Given the description of an element on the screen output the (x, y) to click on. 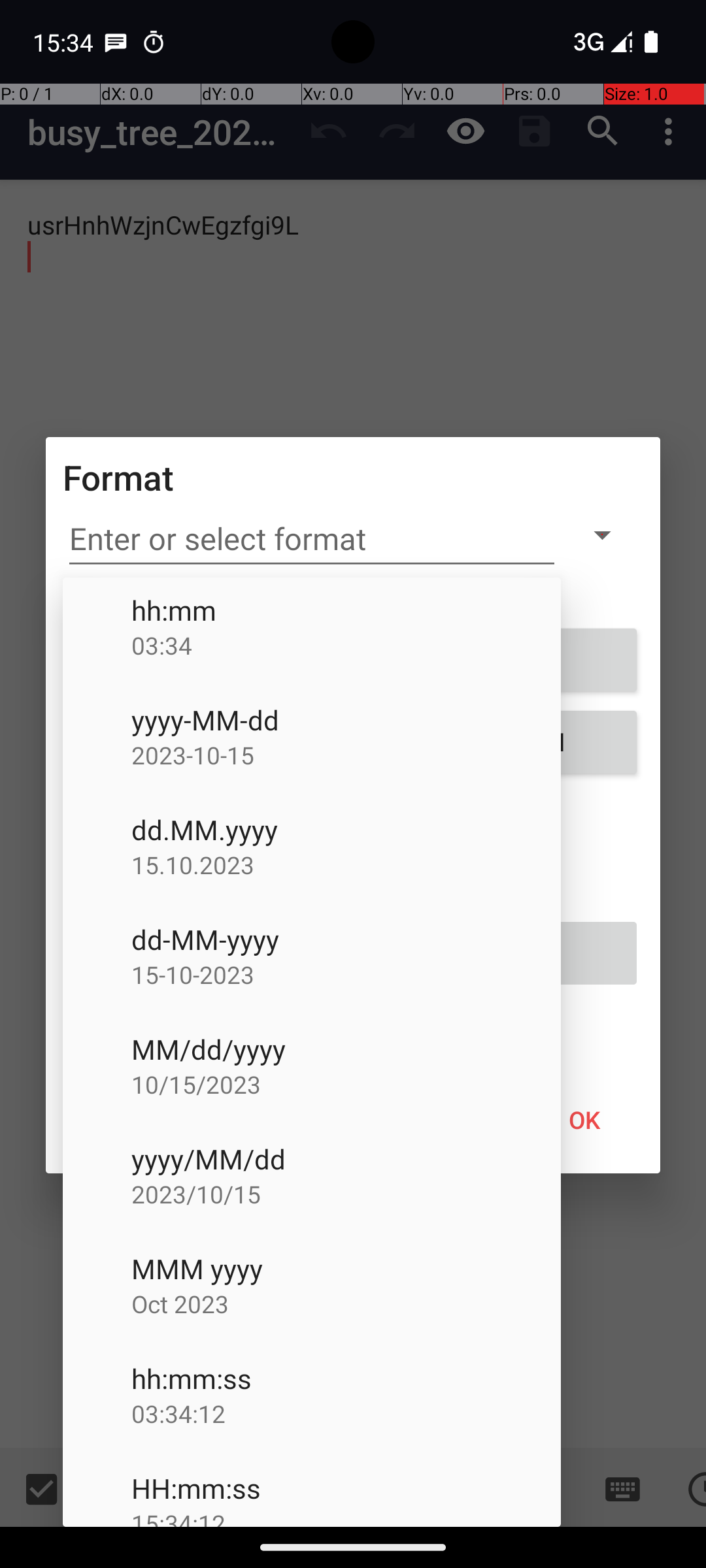
hh:mm Element type: android.widget.TextView (345, 609)
03:34 Element type: android.widget.TextView (345, 644)
2023-10-15 Element type: android.widget.TextView (345, 754)
dd.MM.yyyy Element type: android.widget.TextView (345, 829)
15.10.2023 Element type: android.widget.TextView (345, 864)
dd-MM-yyyy Element type: android.widget.TextView (345, 938)
15-10-2023 Element type: android.widget.TextView (345, 974)
MM/dd/yyyy Element type: android.widget.TextView (345, 1048)
10/15/2023 Element type: android.widget.TextView (345, 1083)
yyyy/MM/dd Element type: android.widget.TextView (345, 1158)
2023/10/15 Element type: android.widget.TextView (345, 1193)
MMM yyyy Element type: android.widget.TextView (345, 1268)
Oct 2023 Element type: android.widget.TextView (345, 1303)
hh:mm:ss Element type: android.widget.TextView (345, 1377)
03:34:12 Element type: android.widget.TextView (345, 1413)
HH:mm:ss Element type: android.widget.TextView (345, 1487)
15:34:12 Element type: android.widget.TextView (345, 1516)
